Given the description of an element on the screen output the (x, y) to click on. 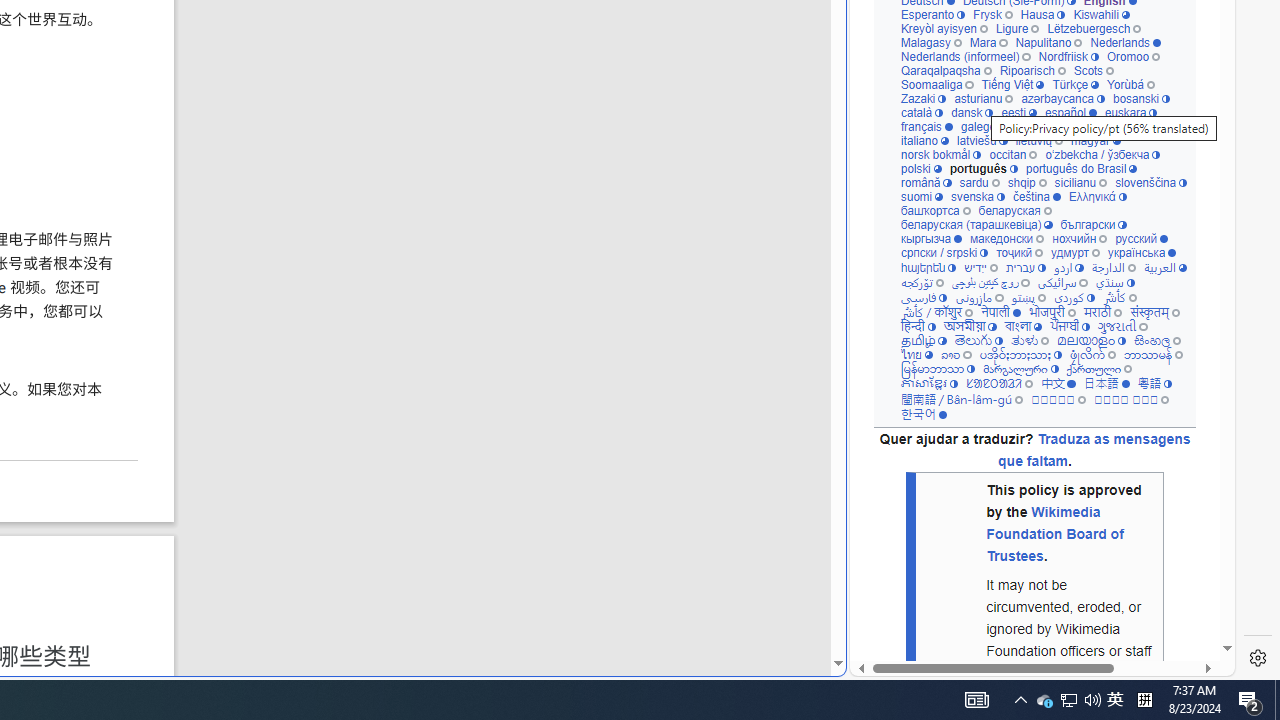
Kiswahili (1101, 14)
shqip (1027, 182)
Oromoo (1132, 56)
